Given the description of an element on the screen output the (x, y) to click on. 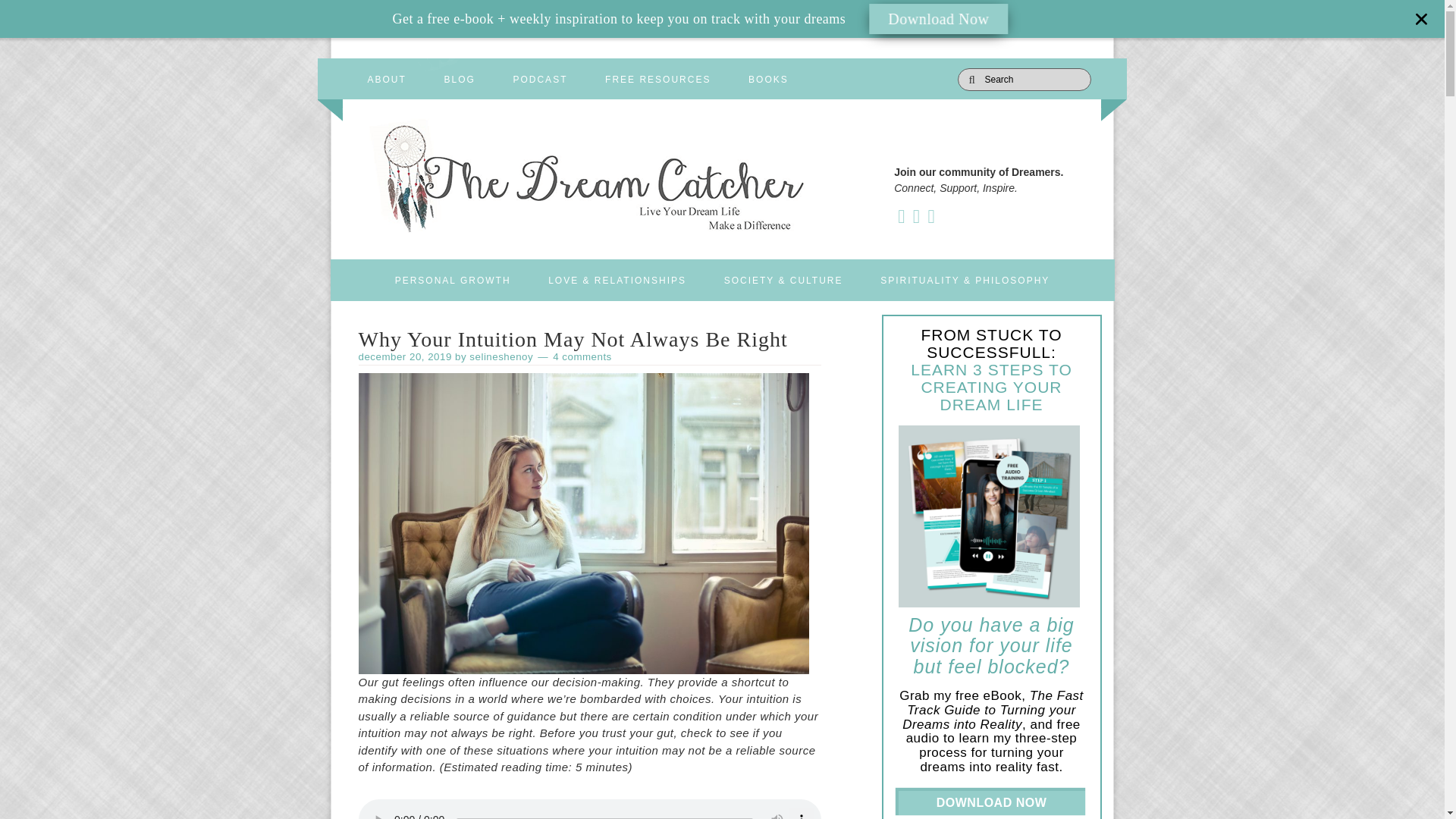
BLOG (459, 73)
BOOKS (768, 73)
PODCAST (539, 73)
ABOUT (386, 73)
FREE RESOURCES (657, 73)
Search (1097, 71)
PERSONAL GROWTH (452, 279)
Search (1097, 71)
